Given the description of an element on the screen output the (x, y) to click on. 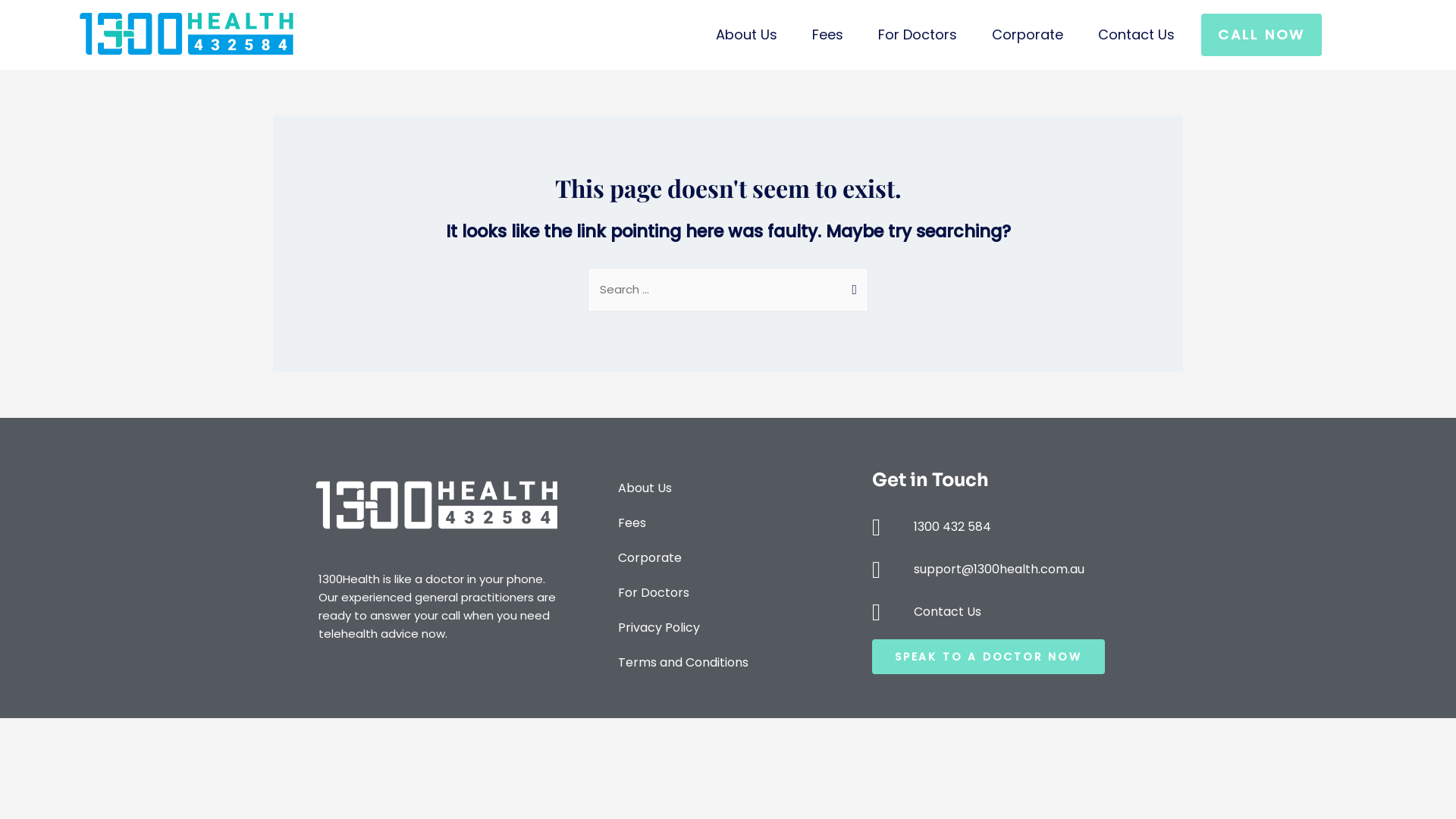
SPEAK TO A DOCTOR NOW Element type: text (988, 656)
Search Element type: text (851, 282)
Contact Us Element type: text (1136, 34)
About Us Element type: text (731, 487)
Fees Element type: text (731, 522)
Privacy Policy Element type: text (731, 627)
Terms and Conditions Element type: text (731, 662)
Corporate Element type: text (1027, 34)
Corporate Element type: text (731, 557)
For Doctors Element type: text (917, 34)
CALL NOW Element type: text (1261, 34)
About Us Element type: text (746, 34)
Fees Element type: text (827, 34)
For Doctors Element type: text (731, 592)
